Given the description of an element on the screen output the (x, y) to click on. 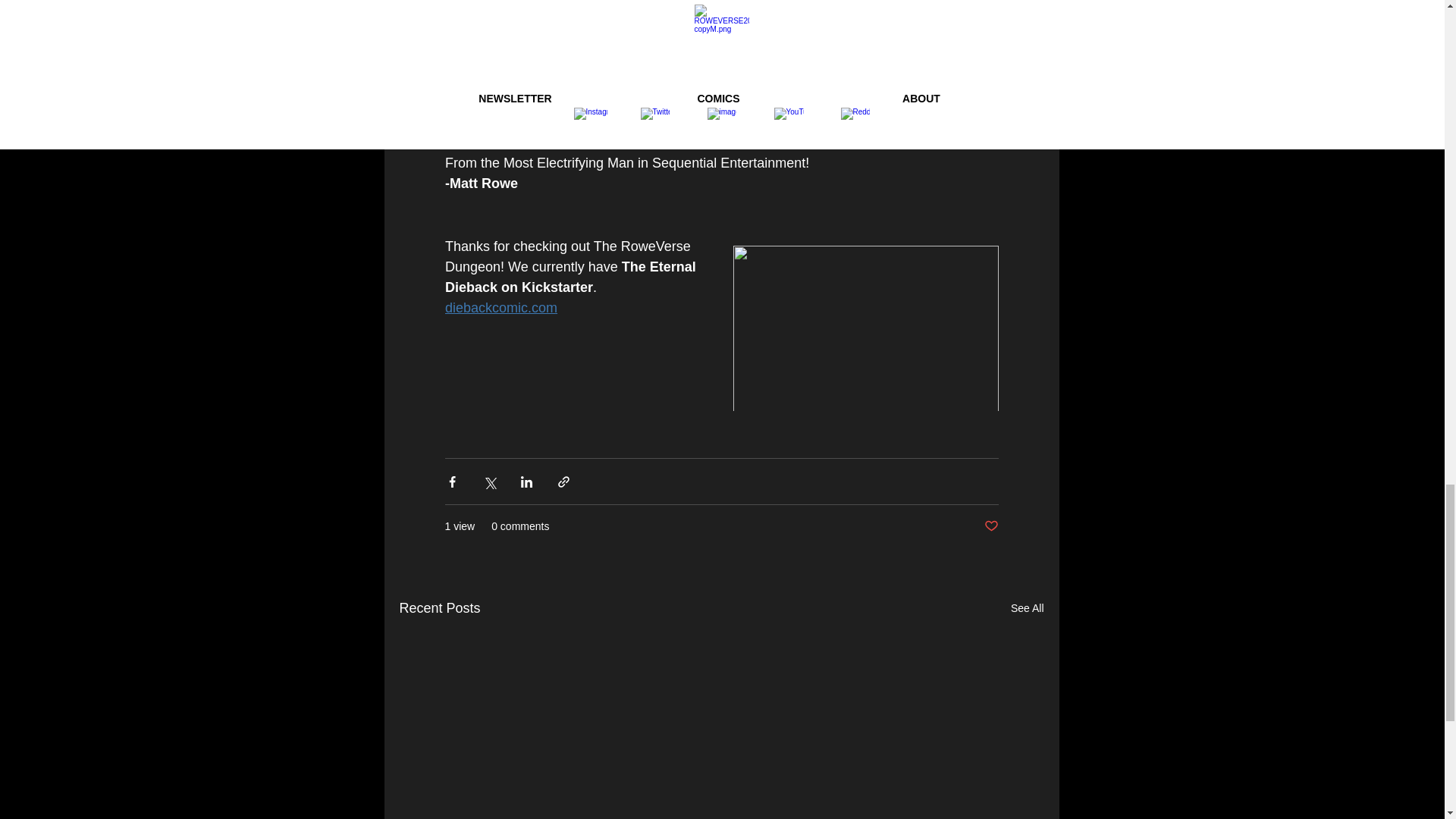
diebackcomic.com (500, 307)
See All (1026, 608)
Post not marked as liked (991, 526)
